Given the description of an element on the screen output the (x, y) to click on. 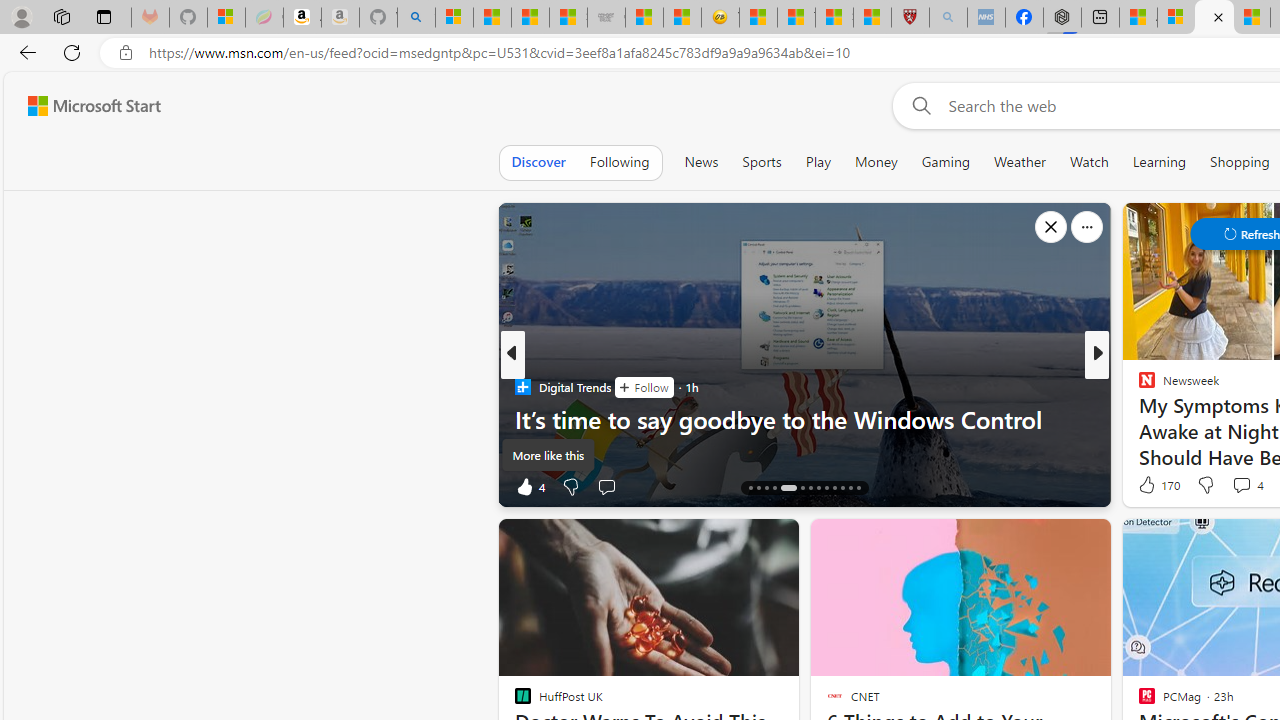
AutomationID: tab-23 (833, 487)
76 Like (1149, 486)
Hide this story (1169, 542)
AutomationID: tab-22 (825, 487)
View comments 42 Comment (1234, 485)
View comments 231 Comment (1240, 486)
View comments 34 Comment (1234, 485)
636 Like (1151, 486)
